Given the description of an element on the screen output the (x, y) to click on. 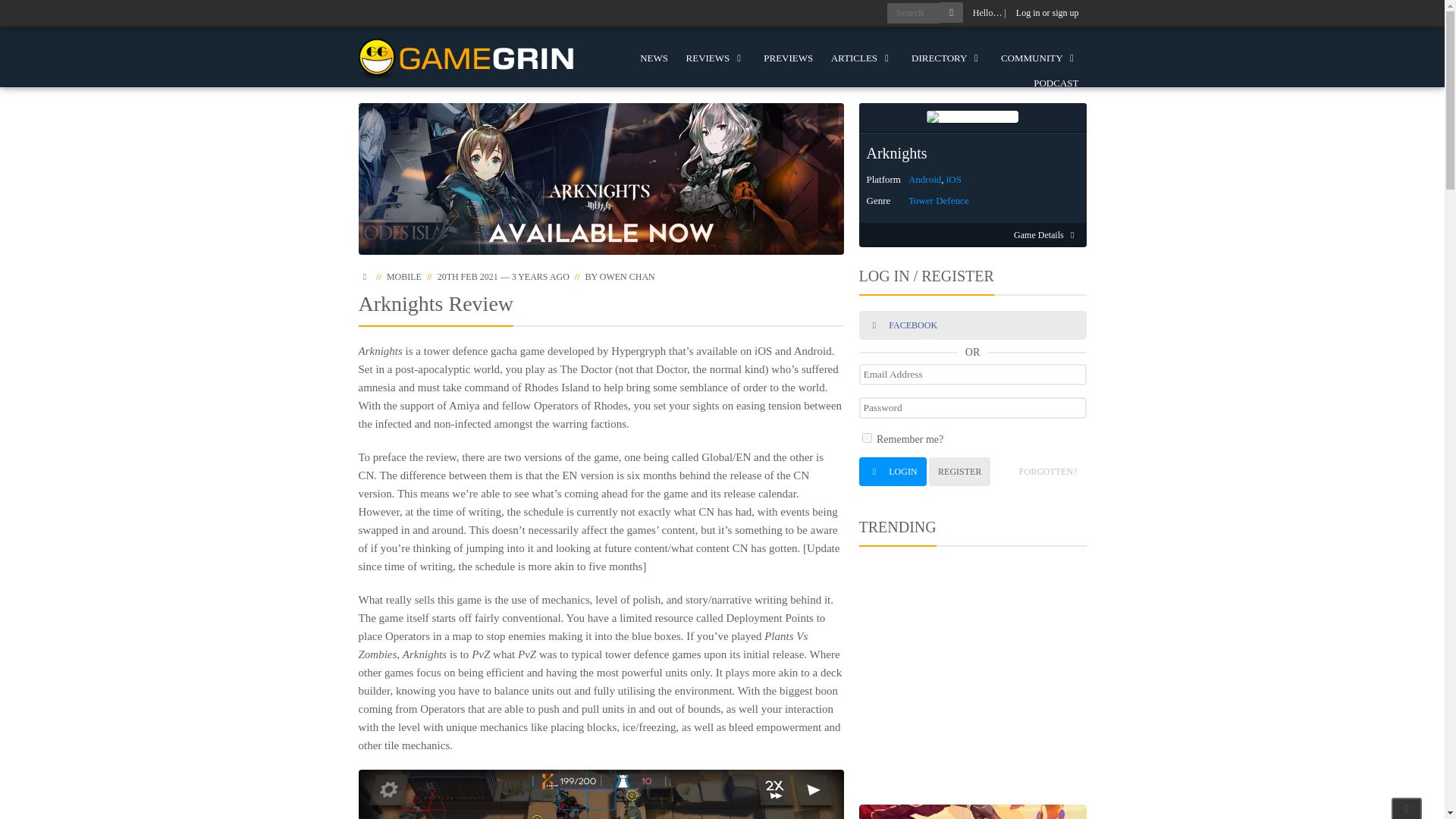
DIRECTORY (947, 57)
ARTICLES (862, 57)
PREVIEWS (788, 57)
NEWS (653, 57)
Android (924, 179)
MOBILE (404, 276)
PODCAST (1056, 82)
Email Address (972, 373)
1 (865, 438)
Password (972, 407)
